Given the description of an element on the screen output the (x, y) to click on. 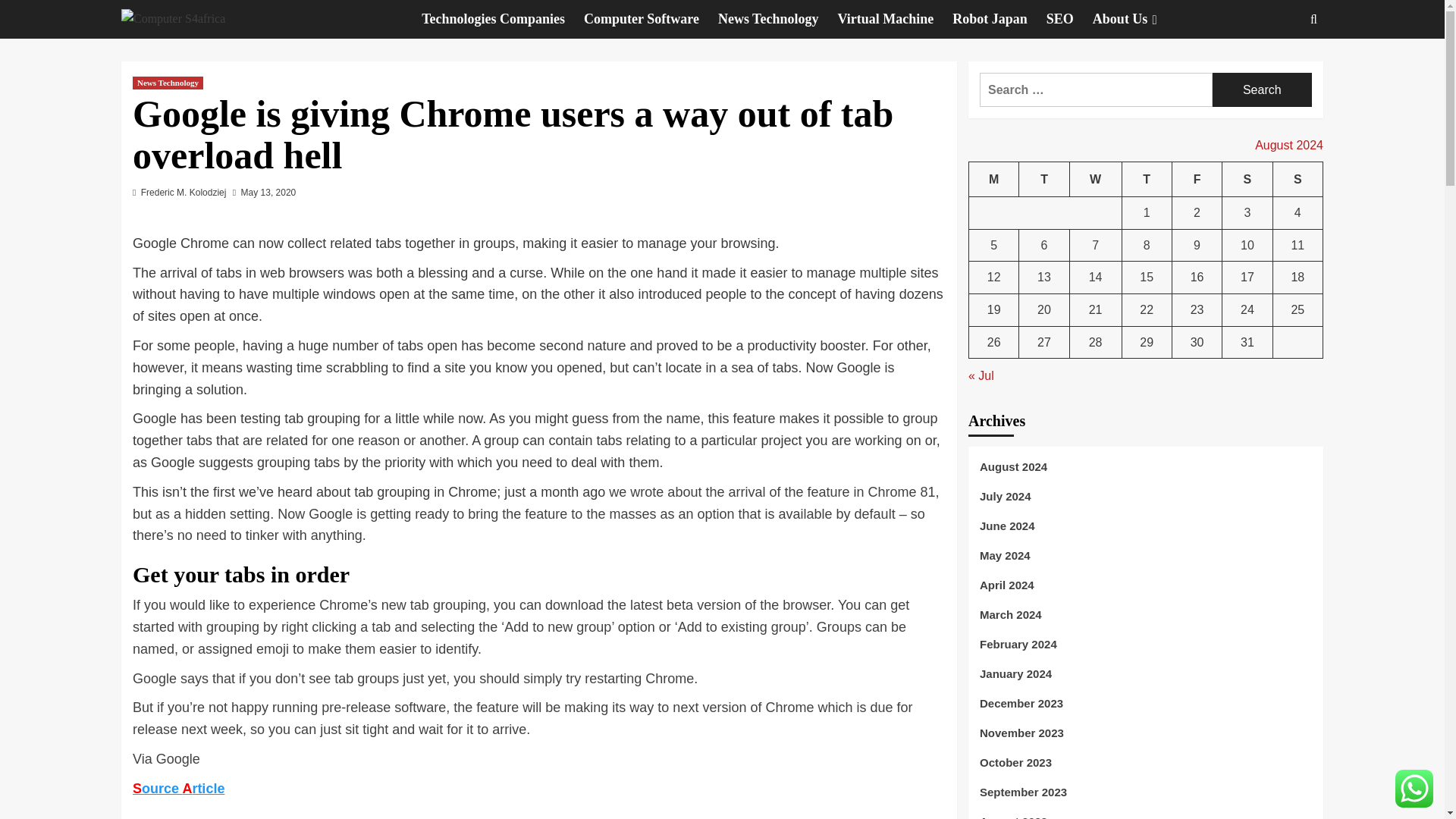
May 13, 2020 (269, 192)
Technologies Companies (502, 19)
Frederic M. Kolodziej (184, 192)
Computer Software (650, 19)
Robot Japan (999, 19)
Tuesday (1043, 179)
Google (177, 758)
About Us (1136, 19)
News Technology (167, 82)
Thursday (1146, 179)
